Given the description of an element on the screen output the (x, y) to click on. 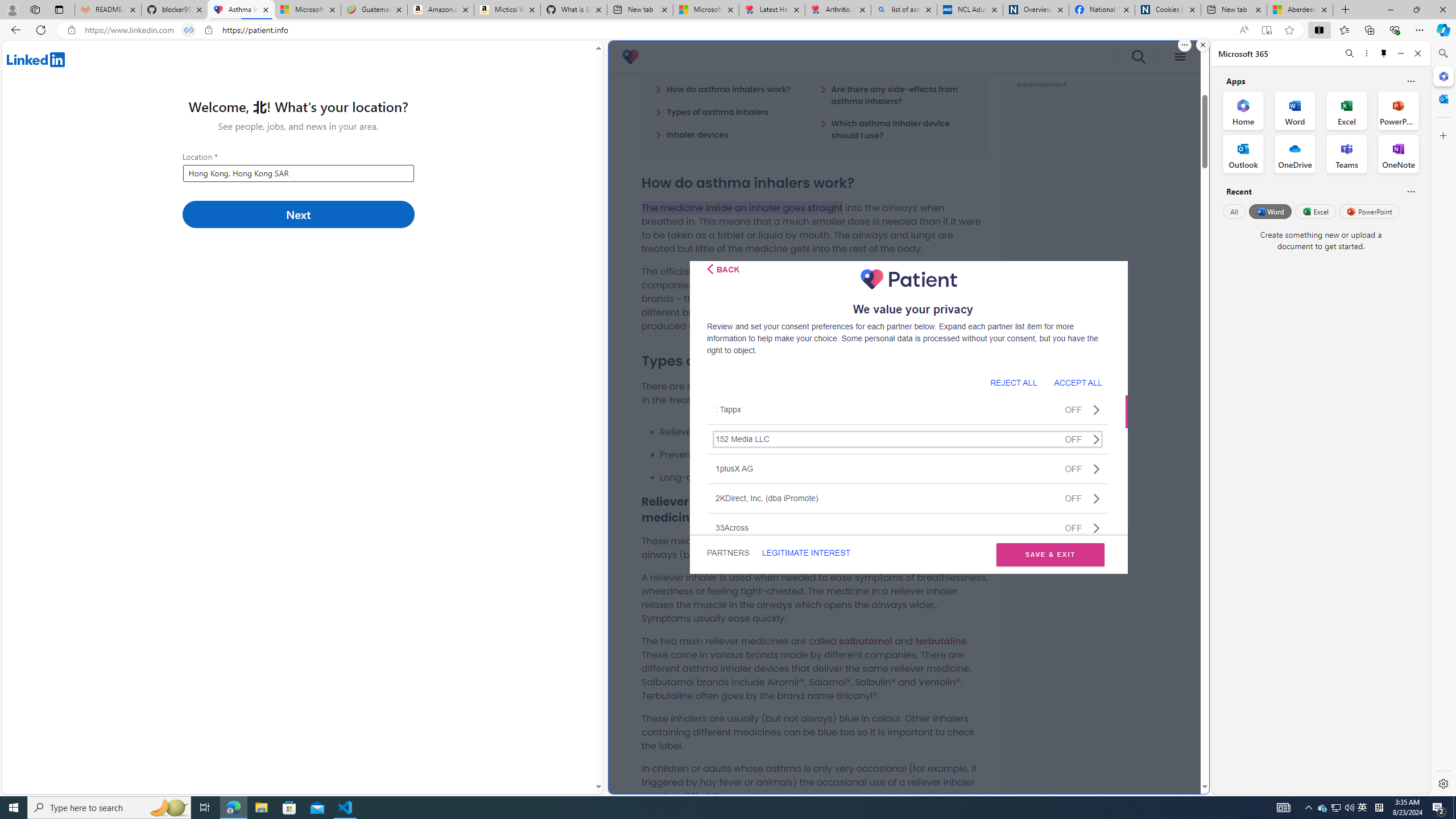
Restore (1416, 9)
Class: css-jswnc6 (1096, 527)
Inhaler devices (691, 134)
2KDirect, Inc. (dba iPromote)OFF (907, 498)
Collections (1369, 29)
Excel (1315, 210)
Close Customize pane (1442, 135)
Microsoft Start (706, 9)
Close Outlook pane (1442, 98)
Add this page to favorites (Ctrl+D) (1289, 29)
salbutamol (865, 640)
Tabs in split screen (189, 29)
Close (1417, 53)
Read aloud this page (Ctrl+Shift+U) (1243, 29)
